Given the description of an element on the screen output the (x, y) to click on. 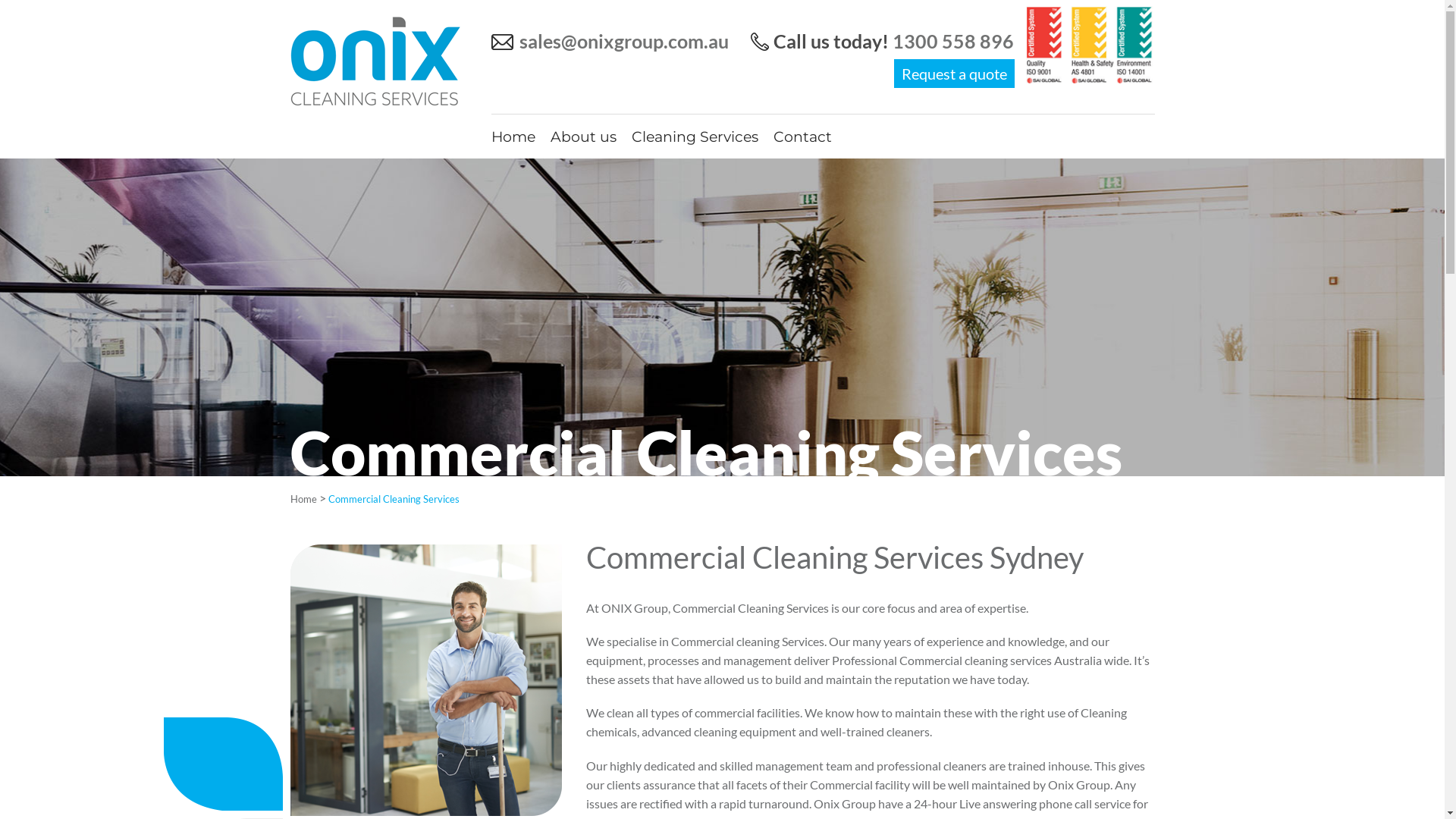
sales@onixgroup.com.au Element type: text (619, 41)
Call us today! 1300 558 896 Element type: text (886, 41)
About us Element type: text (583, 136)
Home Element type: text (513, 136)
Request a quote Element type: text (953, 73)
Home Element type: text (302, 498)
Contact Element type: text (802, 136)
Cleaning Services Element type: text (693, 136)
